Given the description of an element on the screen output the (x, y) to click on. 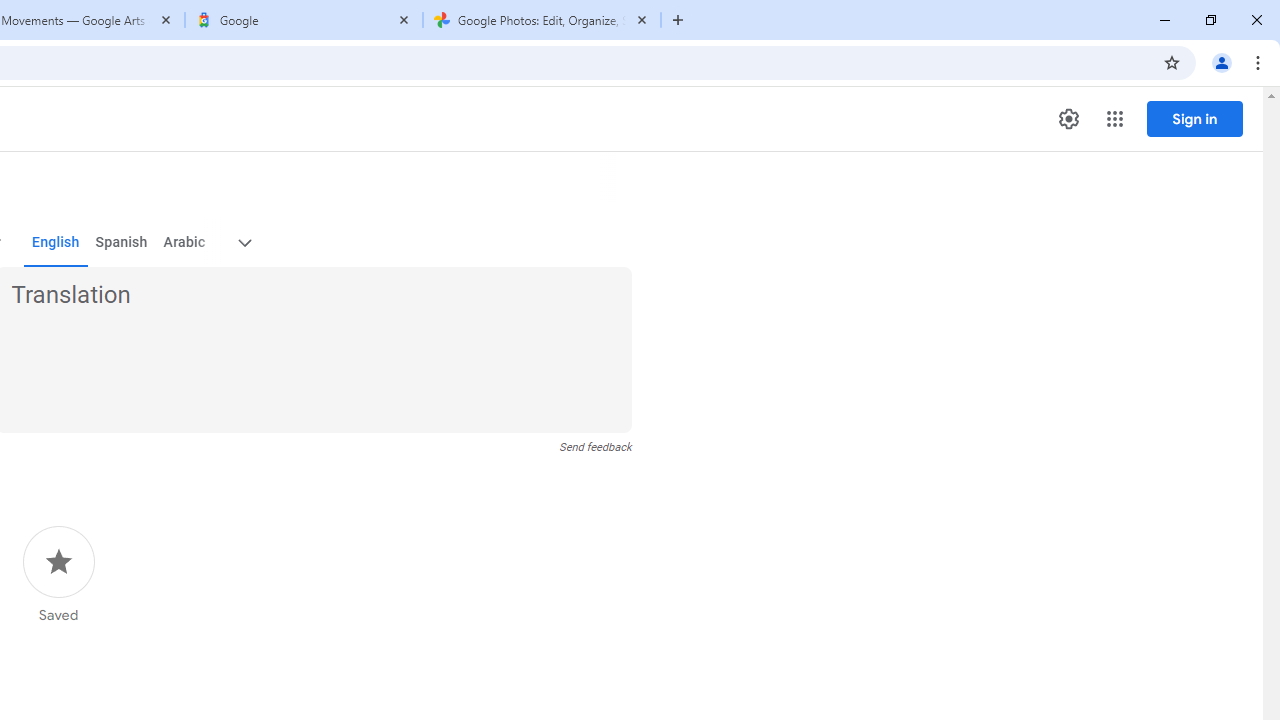
Sign in (1012, 32)
